Given the description of an element on the screen output the (x, y) to click on. 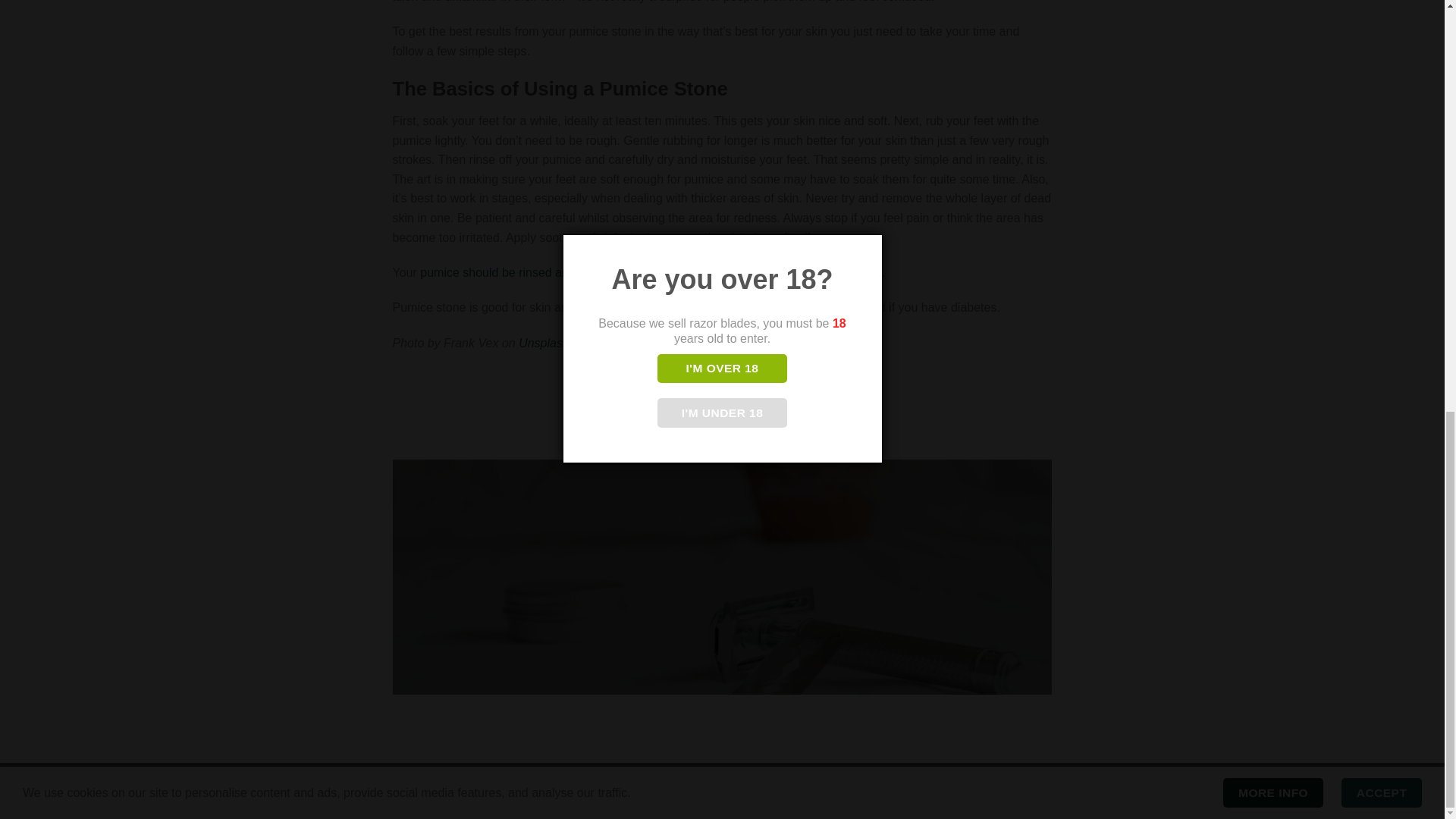
Share on LinkedIn (777, 395)
Share on Twitter (694, 395)
pumice should be rinsed and allowed to dry (536, 272)
Share on Facebook (668, 395)
Unsplash (543, 342)
Email to a Friend (722, 395)
Pin on Pinterest (750, 395)
